Given the description of an element on the screen output the (x, y) to click on. 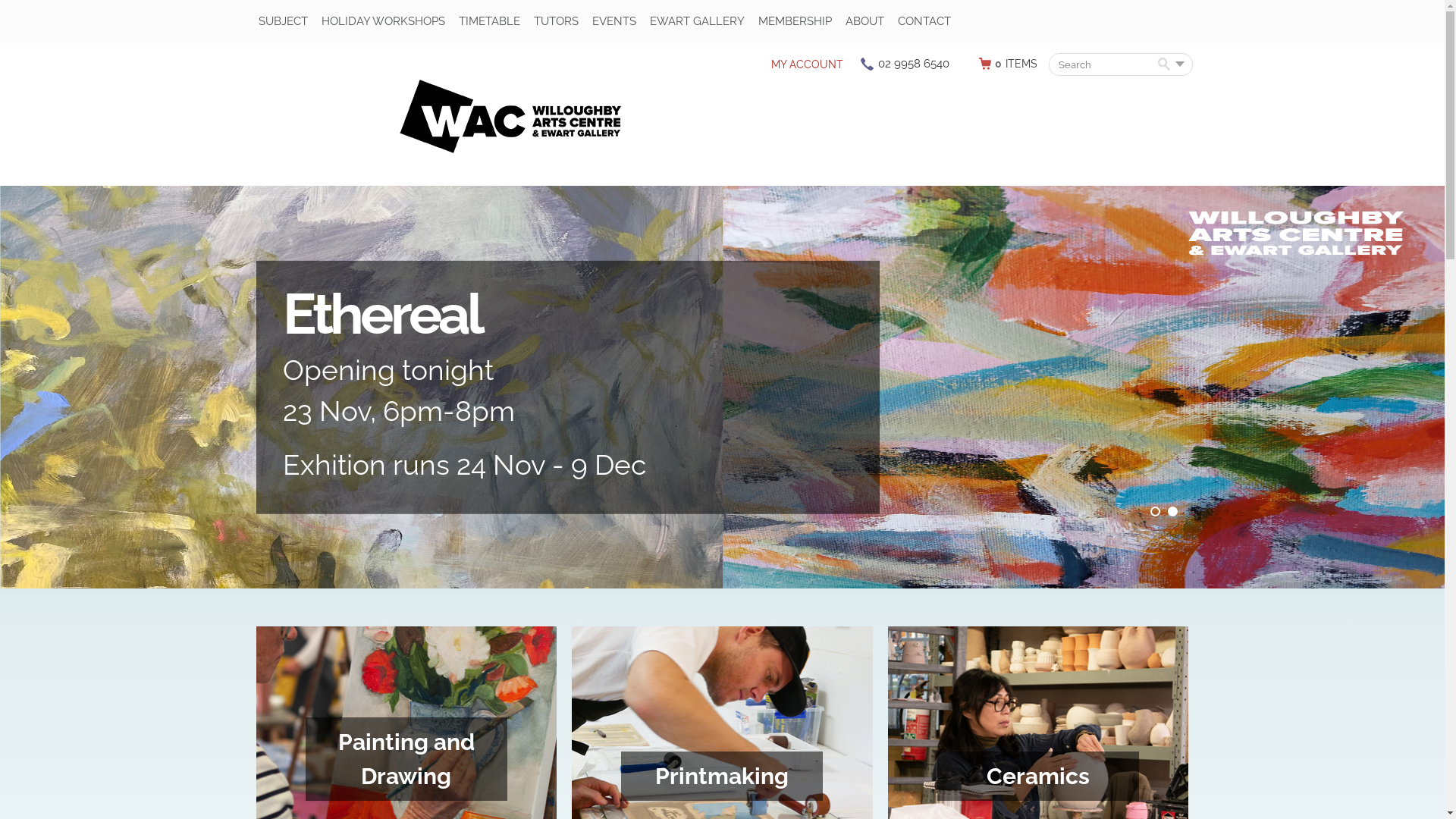
ABOUT Element type: text (863, 21)
02 9958 6540 Element type: text (913, 63)
More options Element type: text (1179, 64)
CONTACT Element type: text (924, 21)
TIMETABLE Element type: text (488, 21)
MEMBERSHIP Element type: text (794, 21)
TUTORS Element type: text (555, 21)
MY ACCOUNT Element type: text (806, 64)
EWART GALLERY Element type: text (696, 21)
SUBJECT Element type: text (282, 21)
2 Element type: text (1172, 511)
Search Element type: text (1163, 64)
EVENTS Element type: text (613, 21)
1 Element type: text (1154, 511)
HOLIDAY WORKSHOPS Element type: text (383, 21)
